Given the description of an element on the screen output the (x, y) to click on. 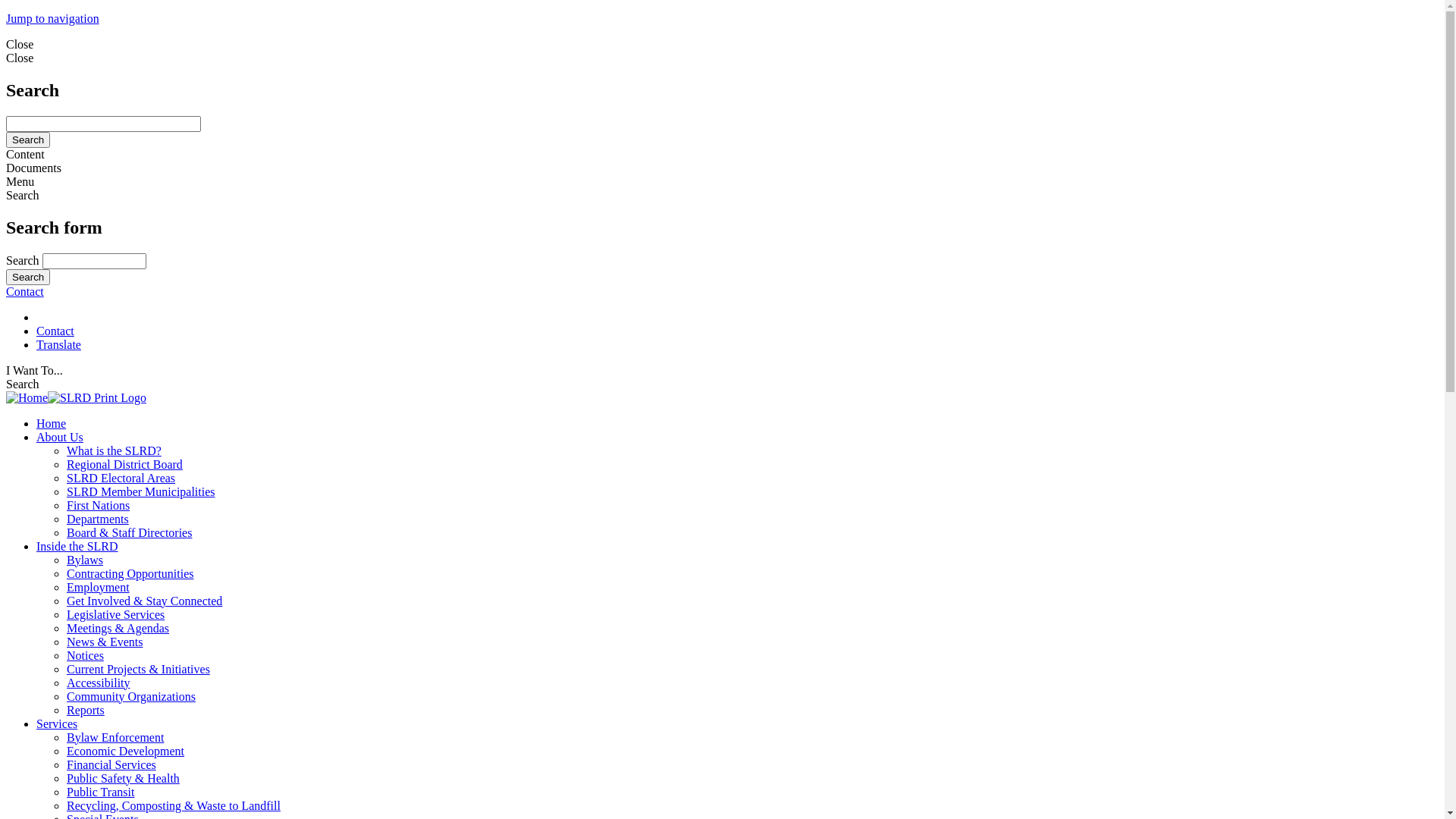
News & Events Element type: text (104, 641)
Accessibility Element type: text (98, 682)
Contact Element type: text (55, 330)
Search Element type: text (28, 277)
Current Projects & Initiatives Element type: text (138, 668)
Bylaw Enforcement Element type: text (114, 737)
First Nations Element type: text (97, 504)
Translate Element type: text (58, 344)
Search Element type: text (28, 139)
Home Element type: hover (76, 397)
SLRD Electoral Areas Element type: text (120, 477)
Enter the terms you wish to search for. Element type: hover (94, 261)
Regional District Board Element type: text (124, 464)
Jump to navigation Element type: text (52, 18)
Community Organizations Element type: text (130, 696)
Meetings & Agendas Element type: text (117, 627)
Home Element type: text (50, 423)
About Us Element type: text (59, 436)
Bylaws Element type: text (84, 559)
Board & Staff Directories Element type: text (128, 532)
Financial Services Element type: text (111, 764)
Services Element type: text (56, 723)
Public Safety & Health Element type: text (122, 777)
Inside the SLRD Element type: text (77, 545)
Contact Element type: text (24, 291)
Public Transit Element type: text (100, 791)
Economic Development Element type: text (125, 750)
SLRD Member Municipalities Element type: text (140, 491)
Reports Element type: text (85, 709)
Contracting Opportunities Element type: text (130, 573)
Departments Element type: text (97, 518)
Get Involved & Stay Connected Element type: text (144, 600)
What is the SLRD? Element type: text (113, 450)
Recycling, Composting & Waste to Landfill Element type: text (173, 805)
Notices Element type: text (84, 655)
Employment Element type: text (97, 586)
Legislative Services Element type: text (115, 614)
